Given the description of an element on the screen output the (x, y) to click on. 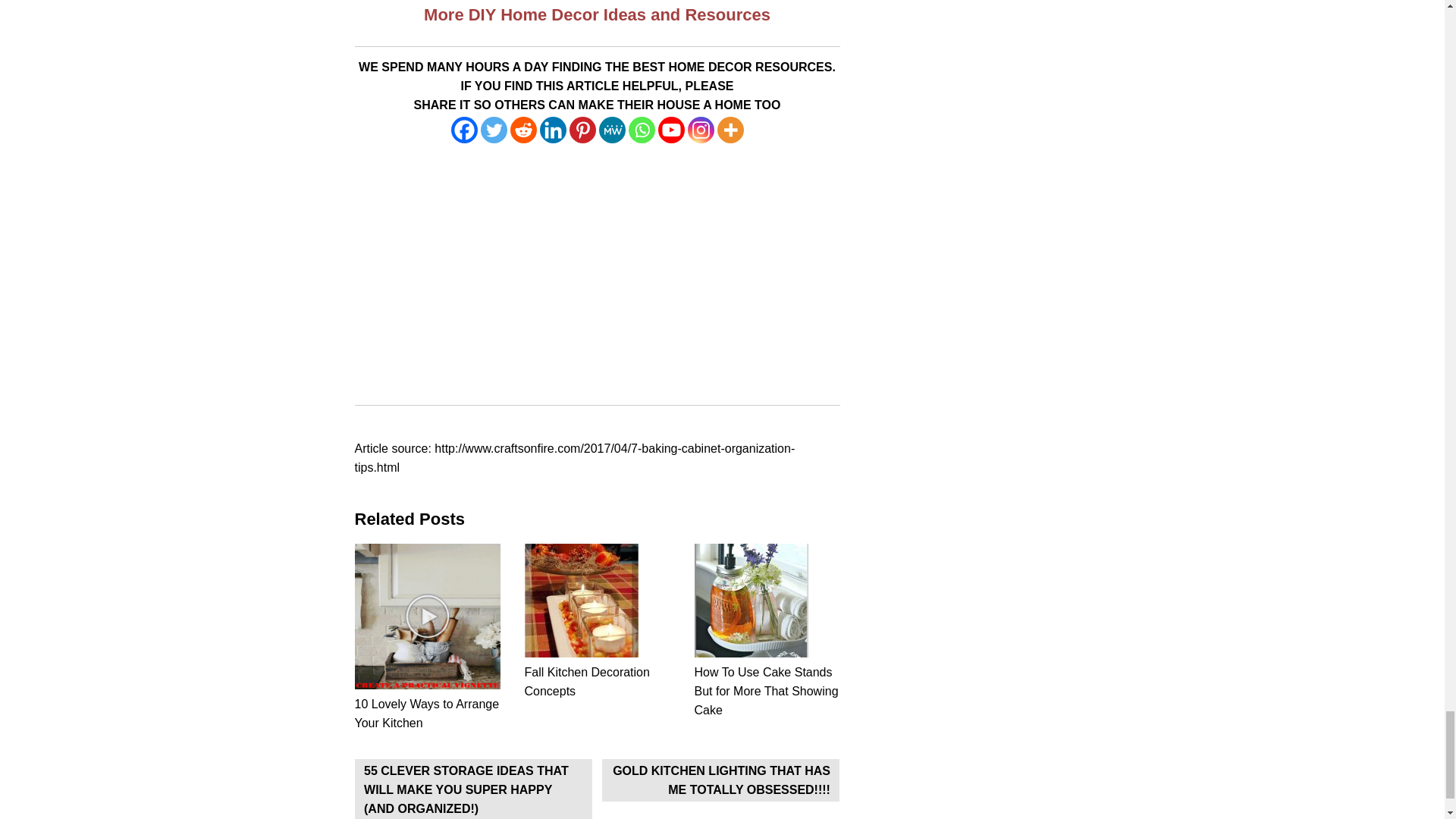
Reddit (522, 130)
Facebook (463, 130)
Linkedin (553, 130)
Twitter (493, 130)
